Given the description of an element on the screen output the (x, y) to click on. 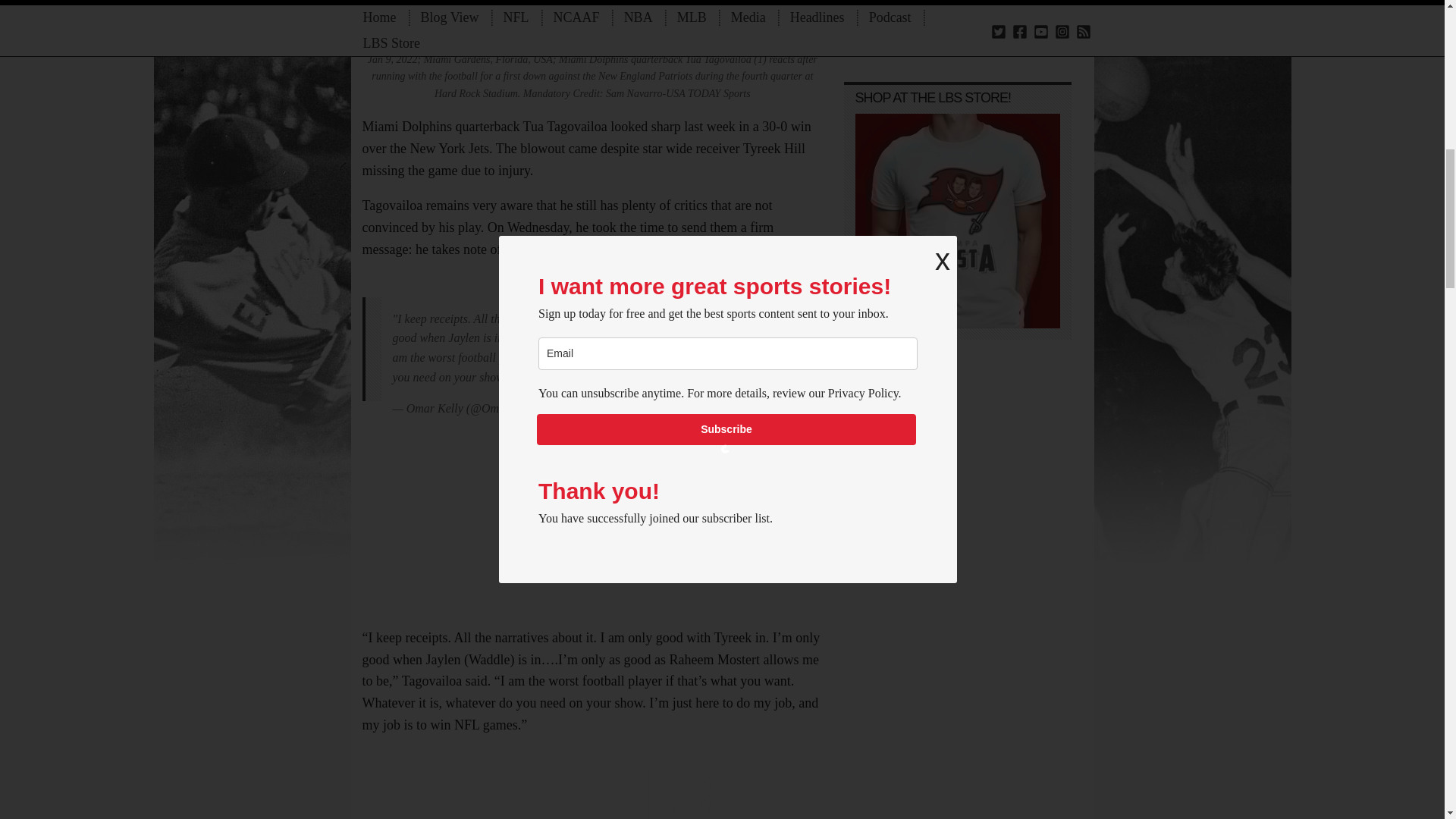
Twitter (597, 349)
3rd party ad content (597, 518)
3rd party ad content (597, 784)
